Given the description of an element on the screen output the (x, y) to click on. 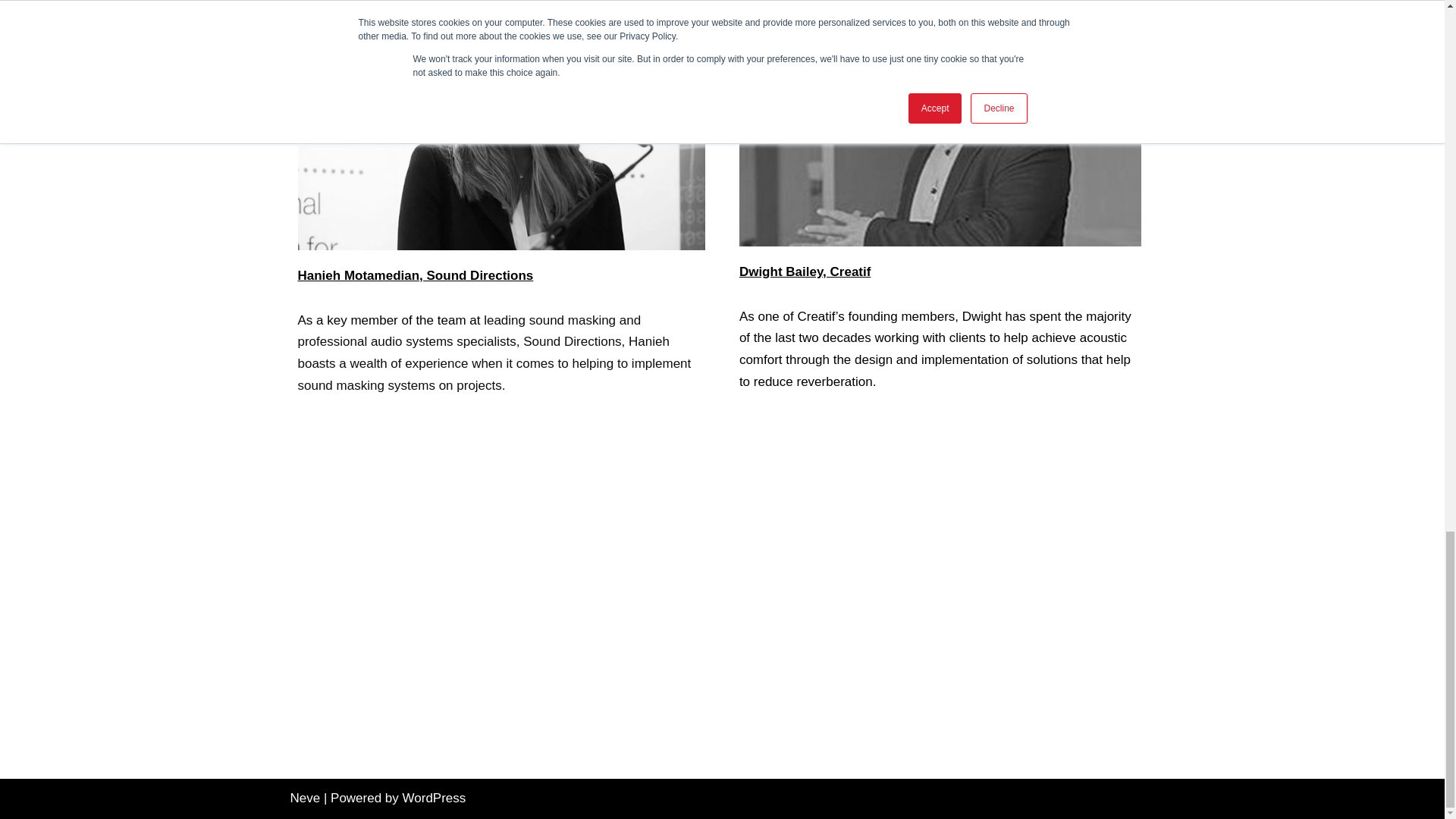
WordPress (434, 798)
Neve (304, 798)
